Given the description of an element on the screen output the (x, y) to click on. 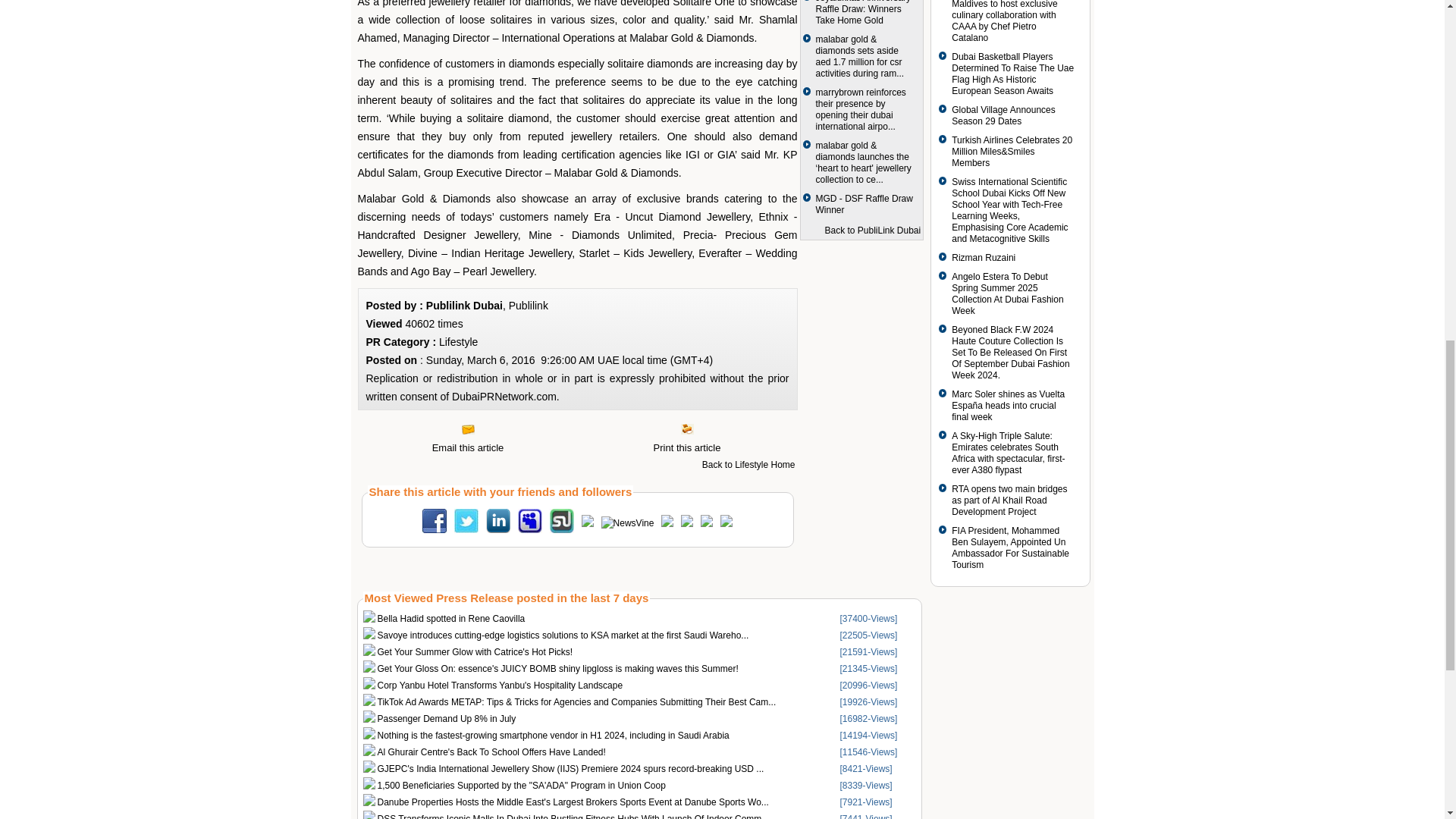
Twitter (466, 529)
Linkedin (498, 529)
MySpace (529, 529)
NewsVine (627, 521)
Reddit (666, 523)
Stumbleupon (561, 529)
NewsVine (627, 522)
Folkd (687, 523)
Facebook (434, 529)
Digg (587, 523)
